Given the description of an element on the screen output the (x, y) to click on. 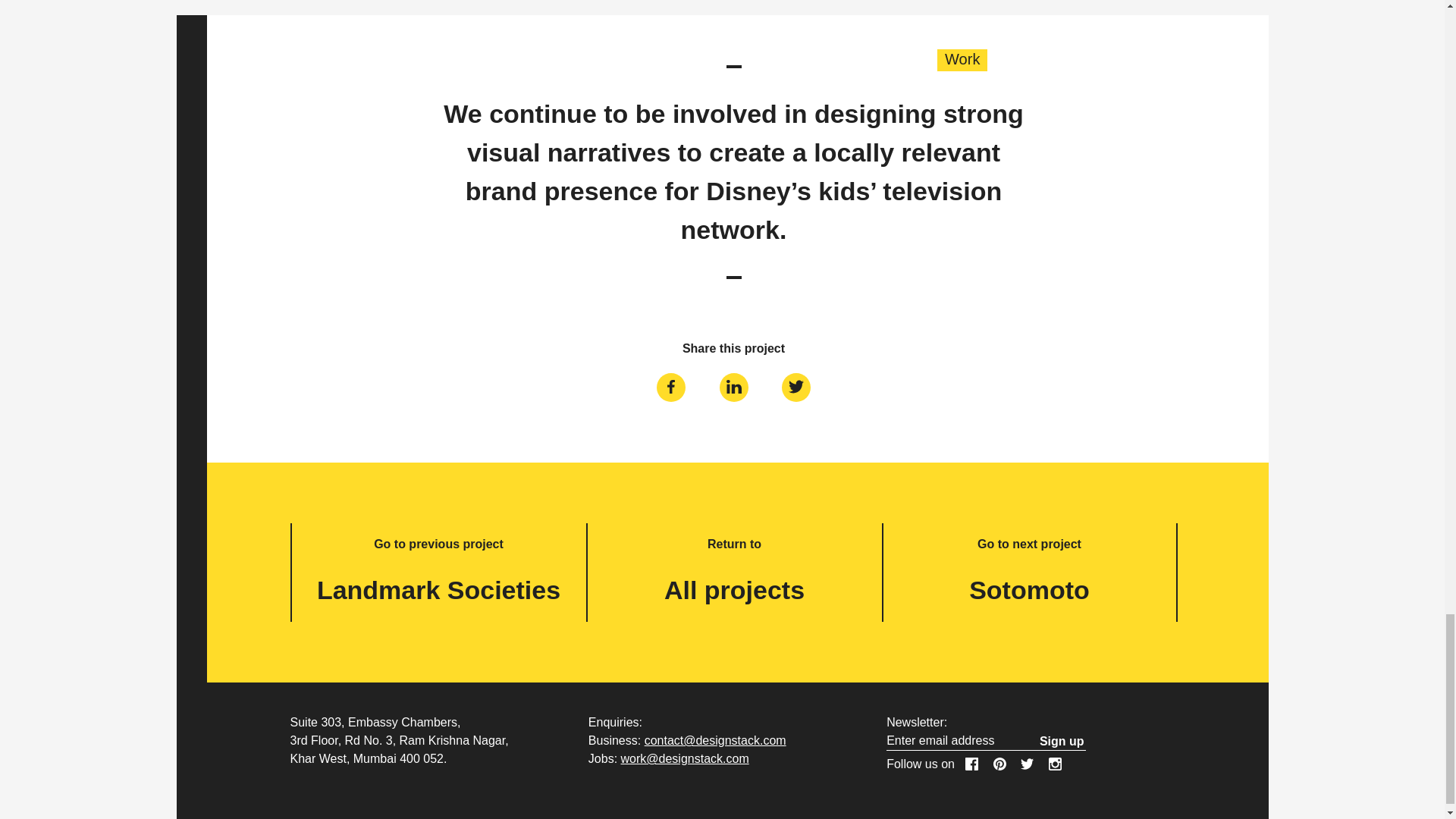
All projects (734, 589)
Linkedin (733, 386)
Landmark Societies (438, 589)
Twitter (796, 386)
Sotomoto (1029, 589)
